Given the description of an element on the screen output the (x, y) to click on. 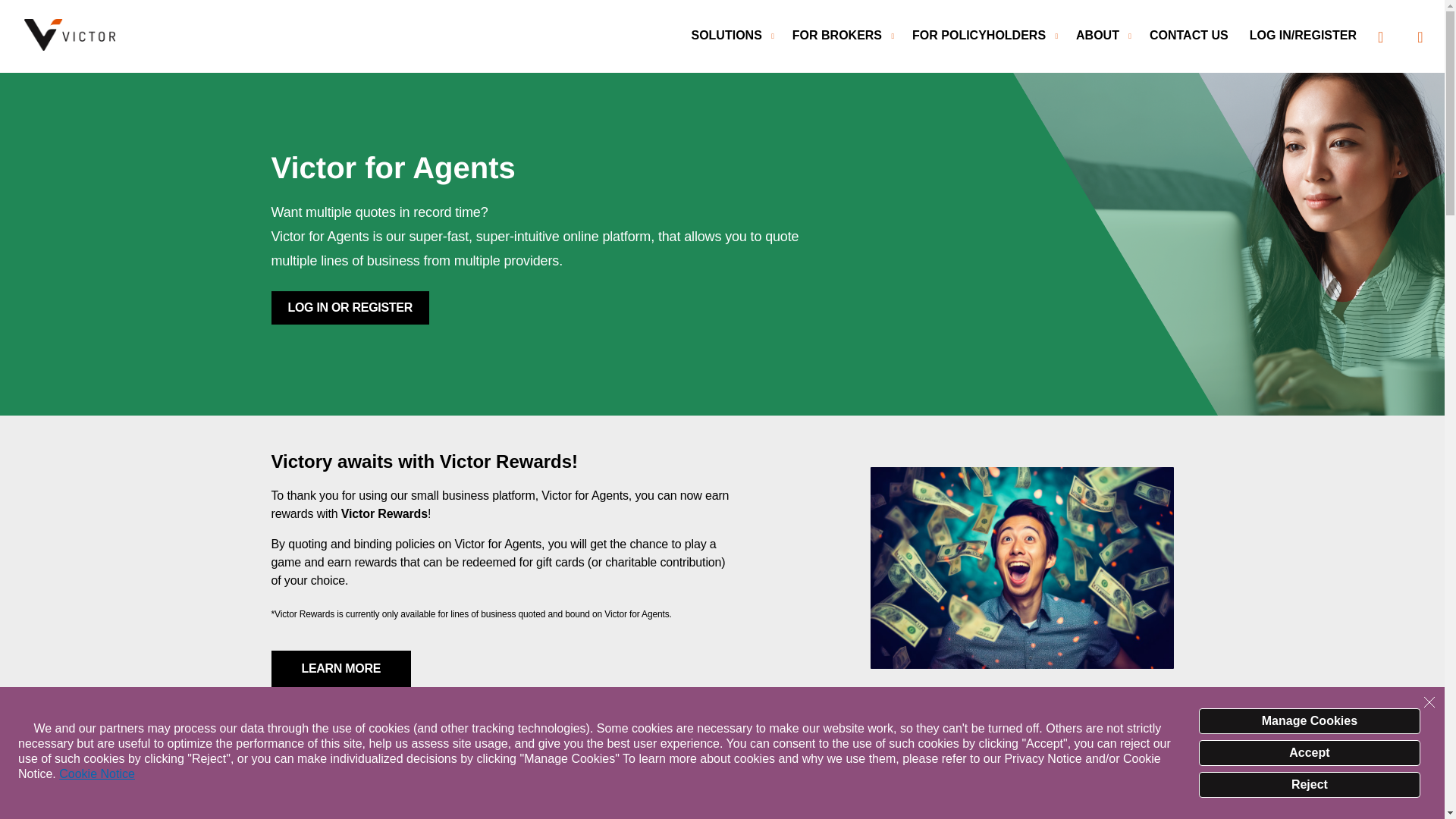
Cookie Notice (97, 774)
Accept (1309, 752)
SOLUTIONS (731, 33)
Manage Cookies (1309, 720)
Reject (1309, 784)
Skip to main content (731, 10)
FOR BROKERS (842, 33)
